Given the description of an element on the screen output the (x, y) to click on. 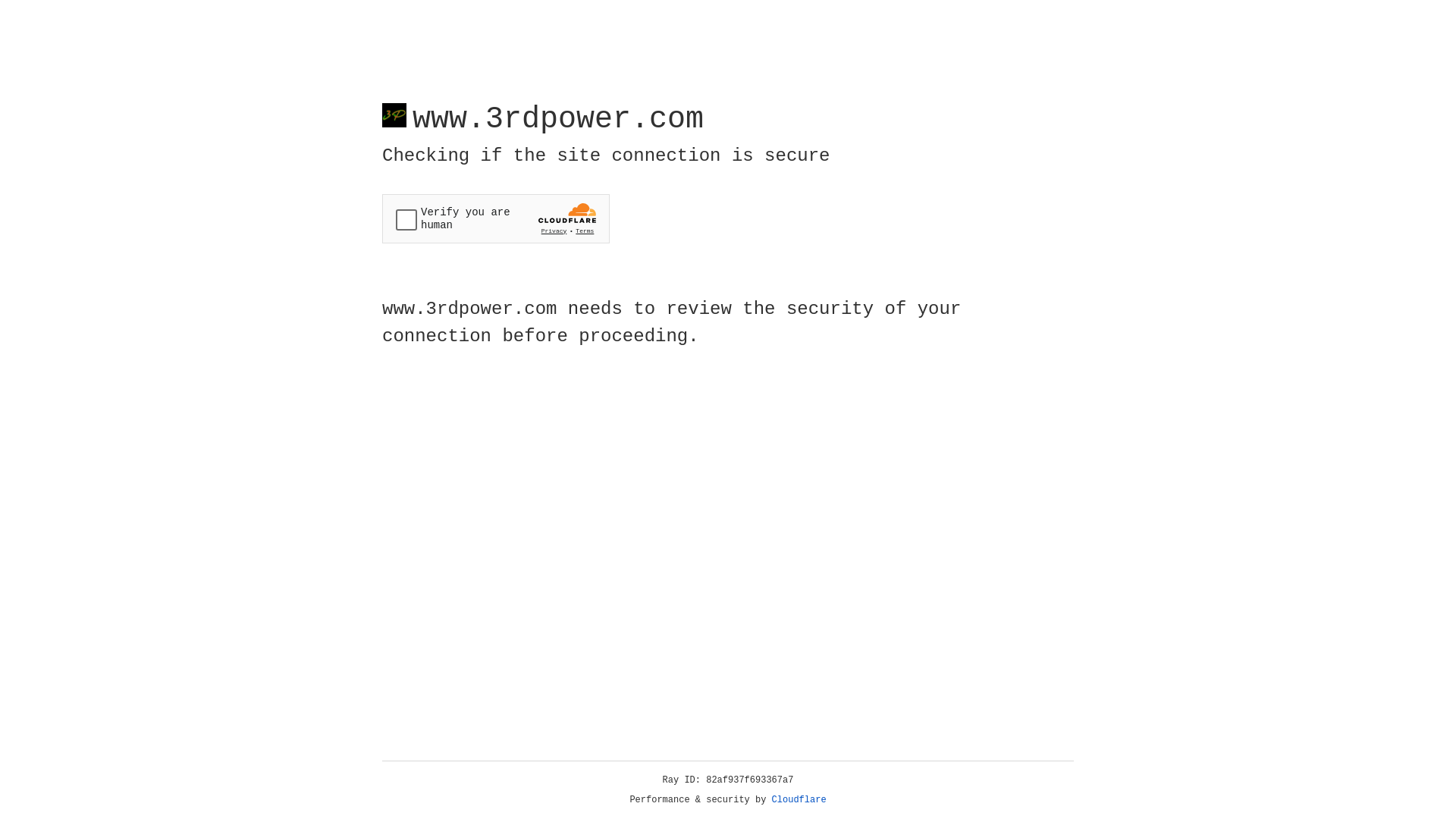
Cloudflare Element type: text (798, 799)
Widget containing a Cloudflare security challenge Element type: hover (495, 218)
